Given the description of an element on the screen output the (x, y) to click on. 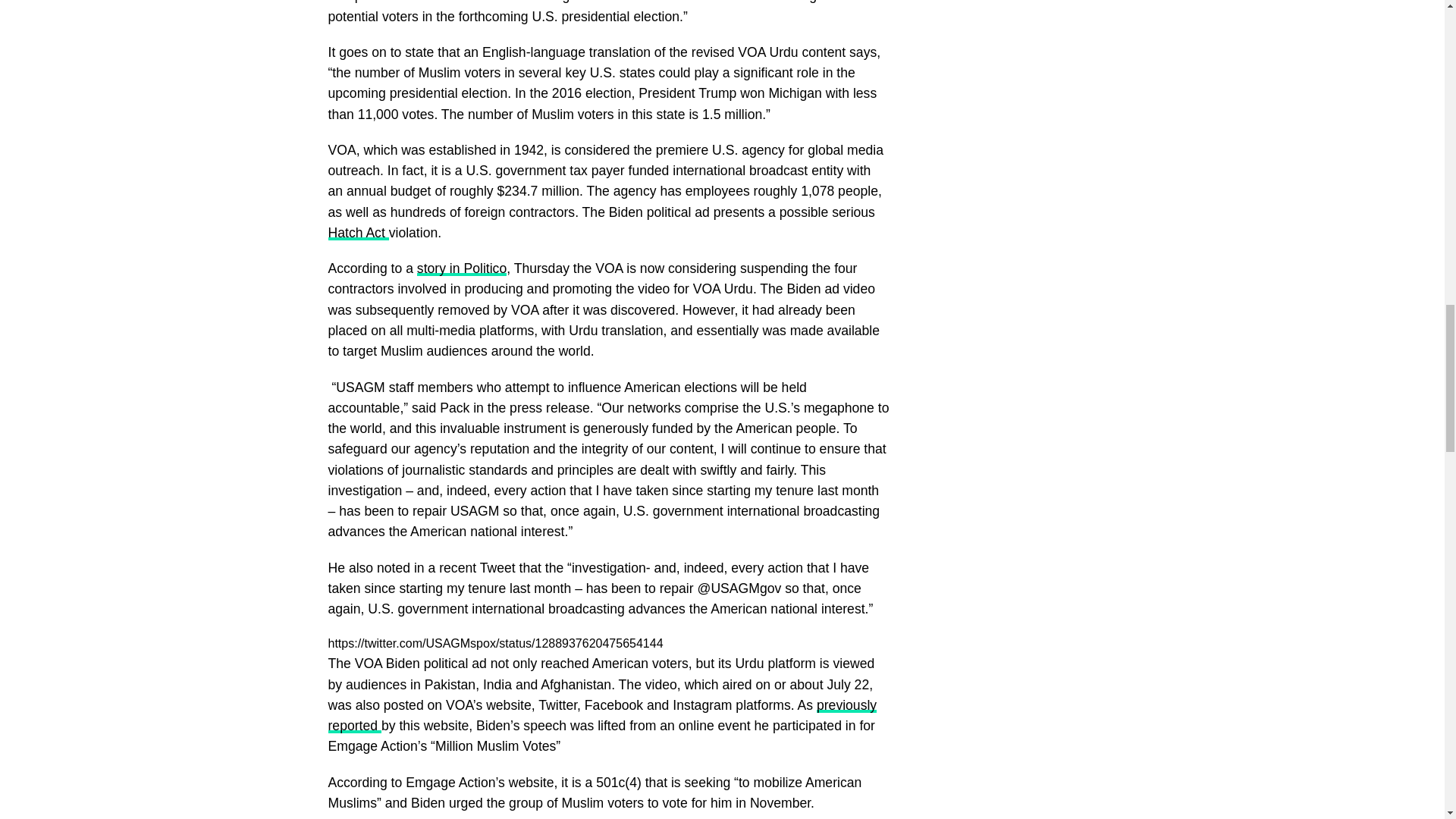
story in Politico (461, 268)
Hatch Act (357, 232)
previously reported (601, 715)
